Given the description of an element on the screen output the (x, y) to click on. 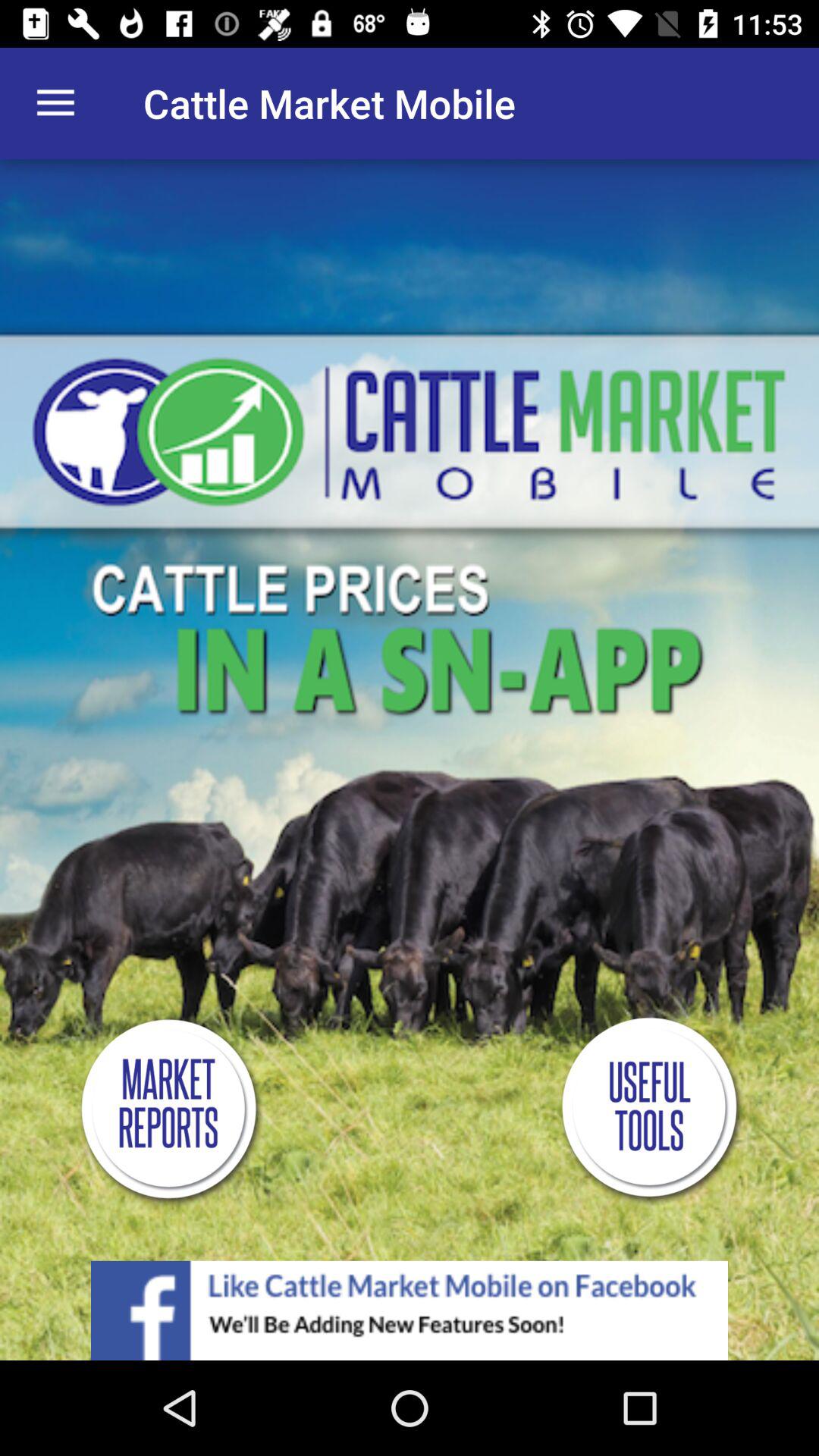
advertising (409, 1310)
